Given the description of an element on the screen output the (x, y) to click on. 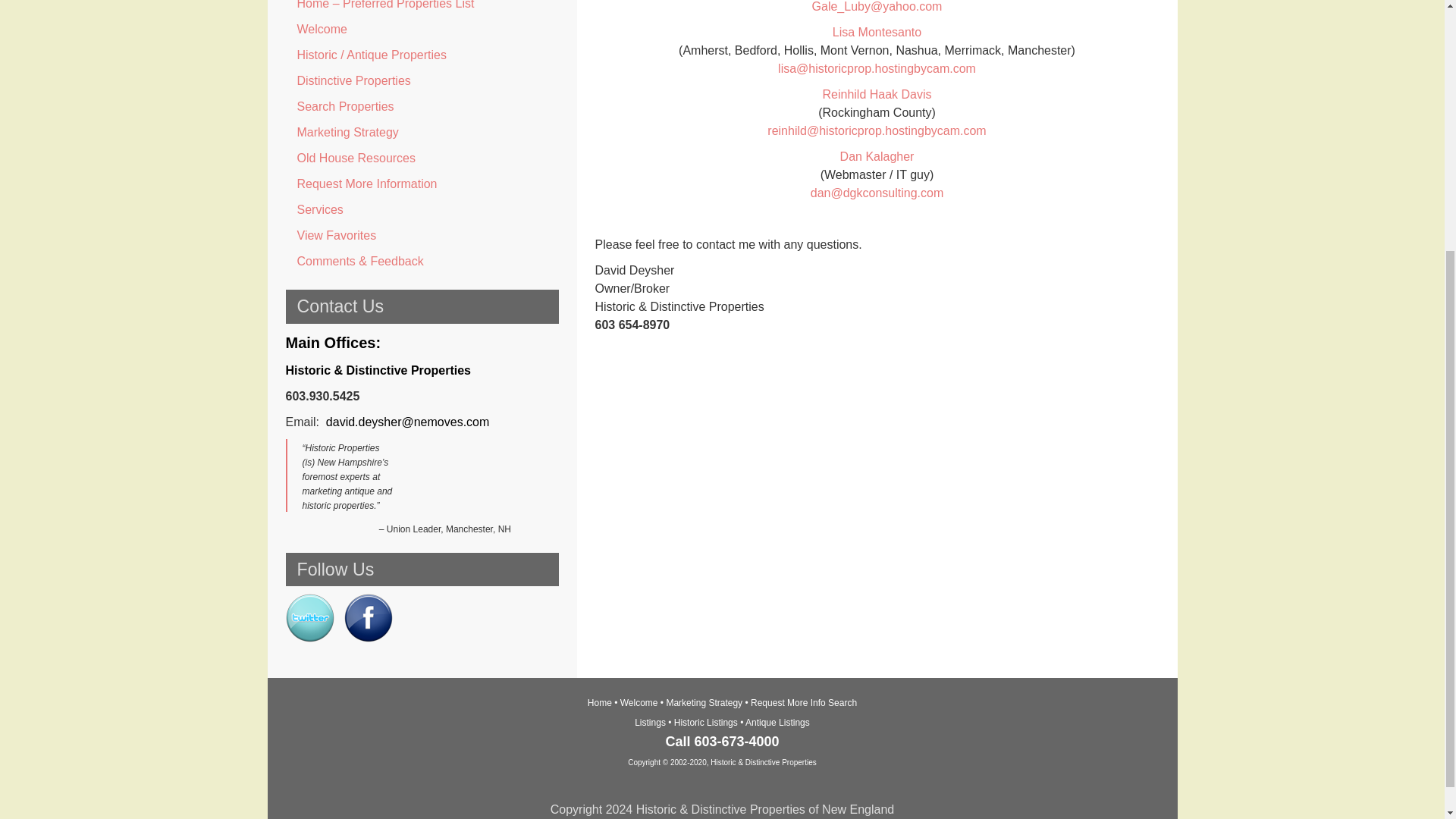
Dan Kalagher (877, 155)
Marketing Strategy (421, 132)
Reinhild Haak Davis (876, 93)
Old House Resources (421, 158)
Become a Facebook Fan (368, 637)
Request More Information (421, 184)
Search Properties (421, 106)
Follow me on Twitter (309, 637)
Services (421, 209)
Welcome (421, 29)
Lisa Montesanto (876, 31)
Distinctive Properties (421, 80)
Welcome (639, 702)
View Favorites (421, 235)
Home (599, 702)
